Given the description of an element on the screen output the (x, y) to click on. 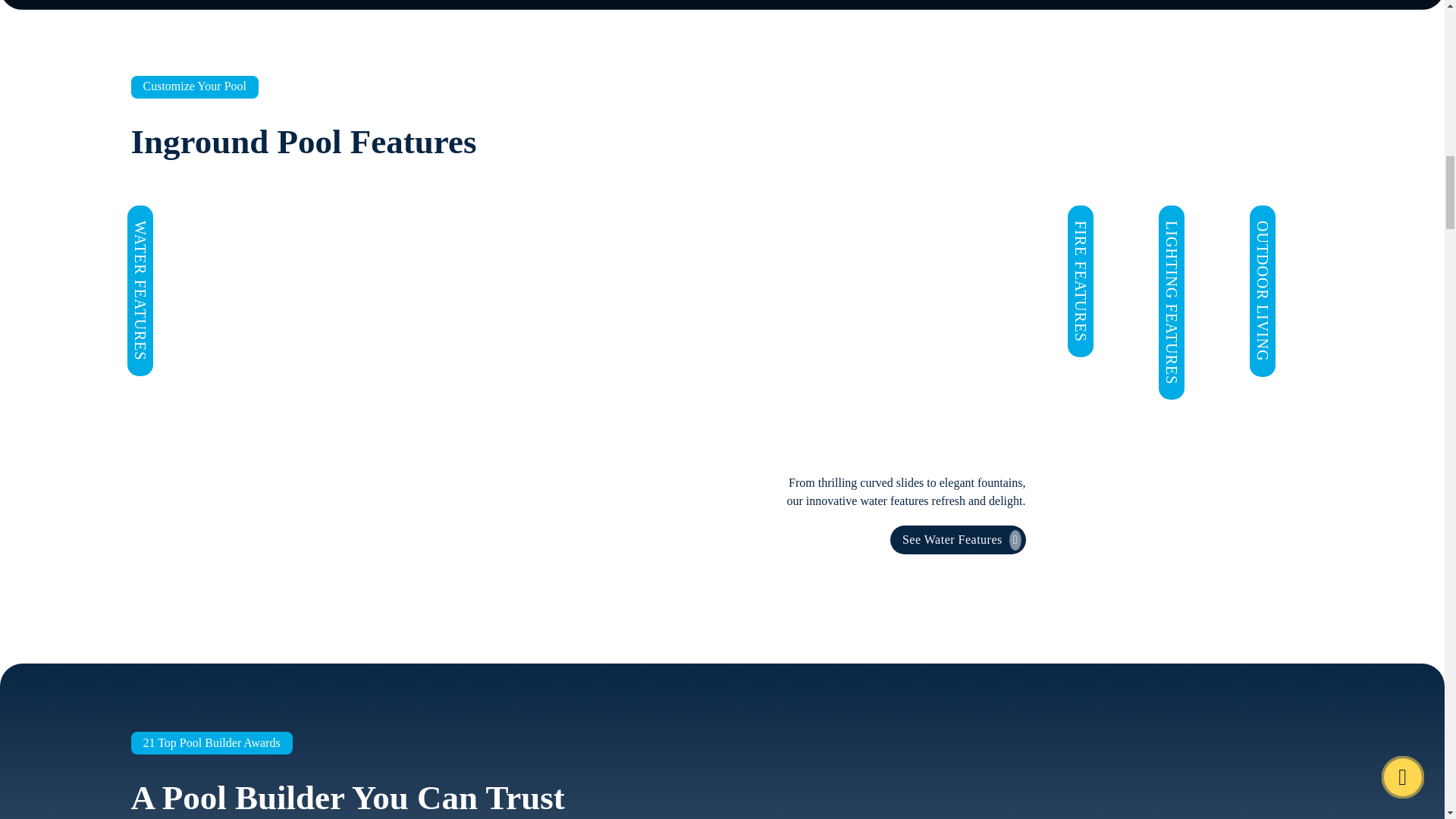
Pool water features (957, 539)
